Given the description of an element on the screen output the (x, y) to click on. 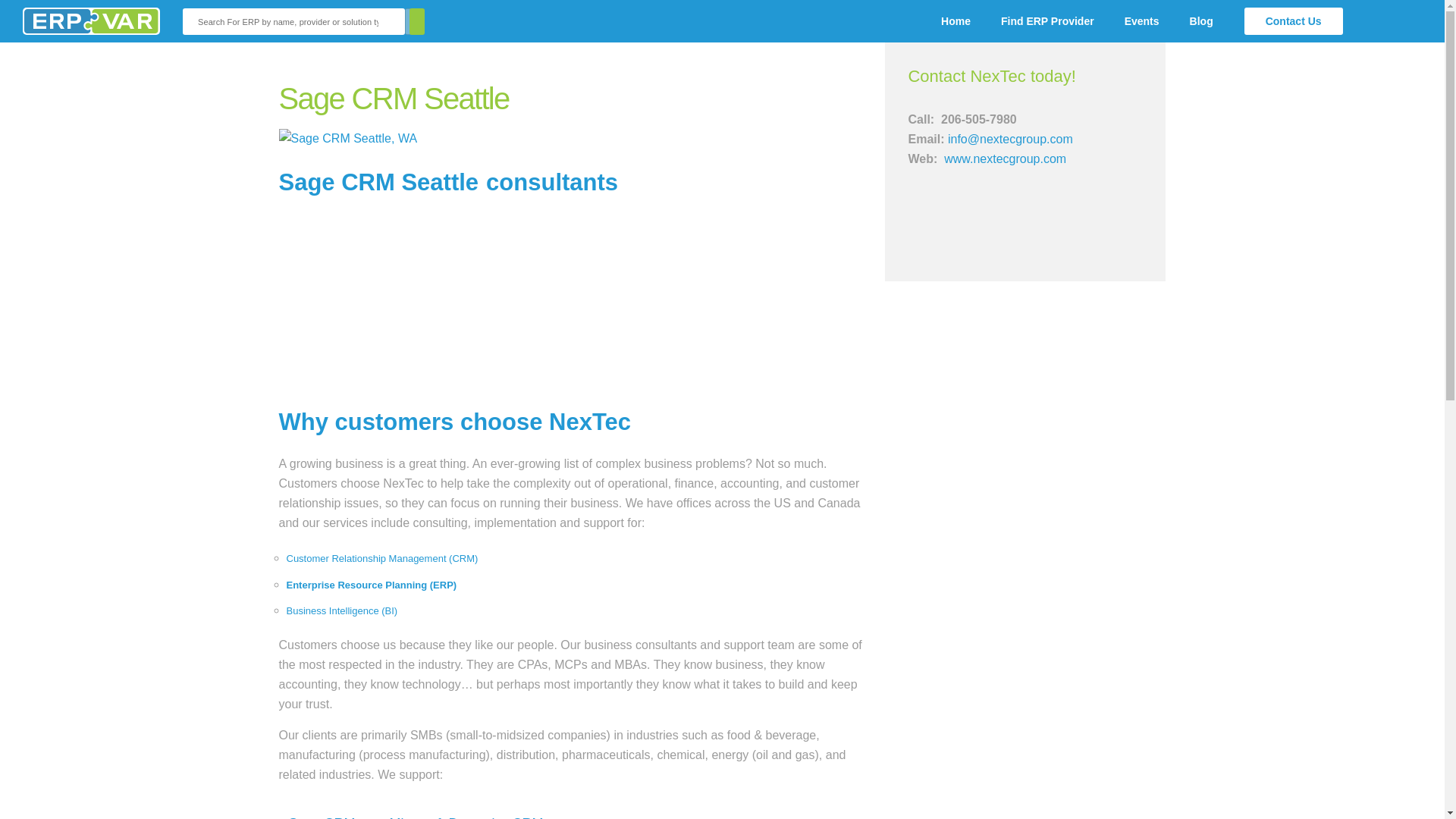
Sage CRM Seattle (379, 180)
Find ERP Provider (1047, 20)
Sage CRM Seattle (379, 180)
Contact Us (1293, 21)
Events (1141, 20)
Microsoft Dynamics CRM (466, 817)
Sage CRM (321, 817)
Microsoft Dynamics CRM (466, 817)
Logo (91, 21)
Sage CRM (321, 817)
Home (955, 20)
www.nextecgroup.com (1004, 158)
Blog (1201, 20)
